Given the description of an element on the screen output the (x, y) to click on. 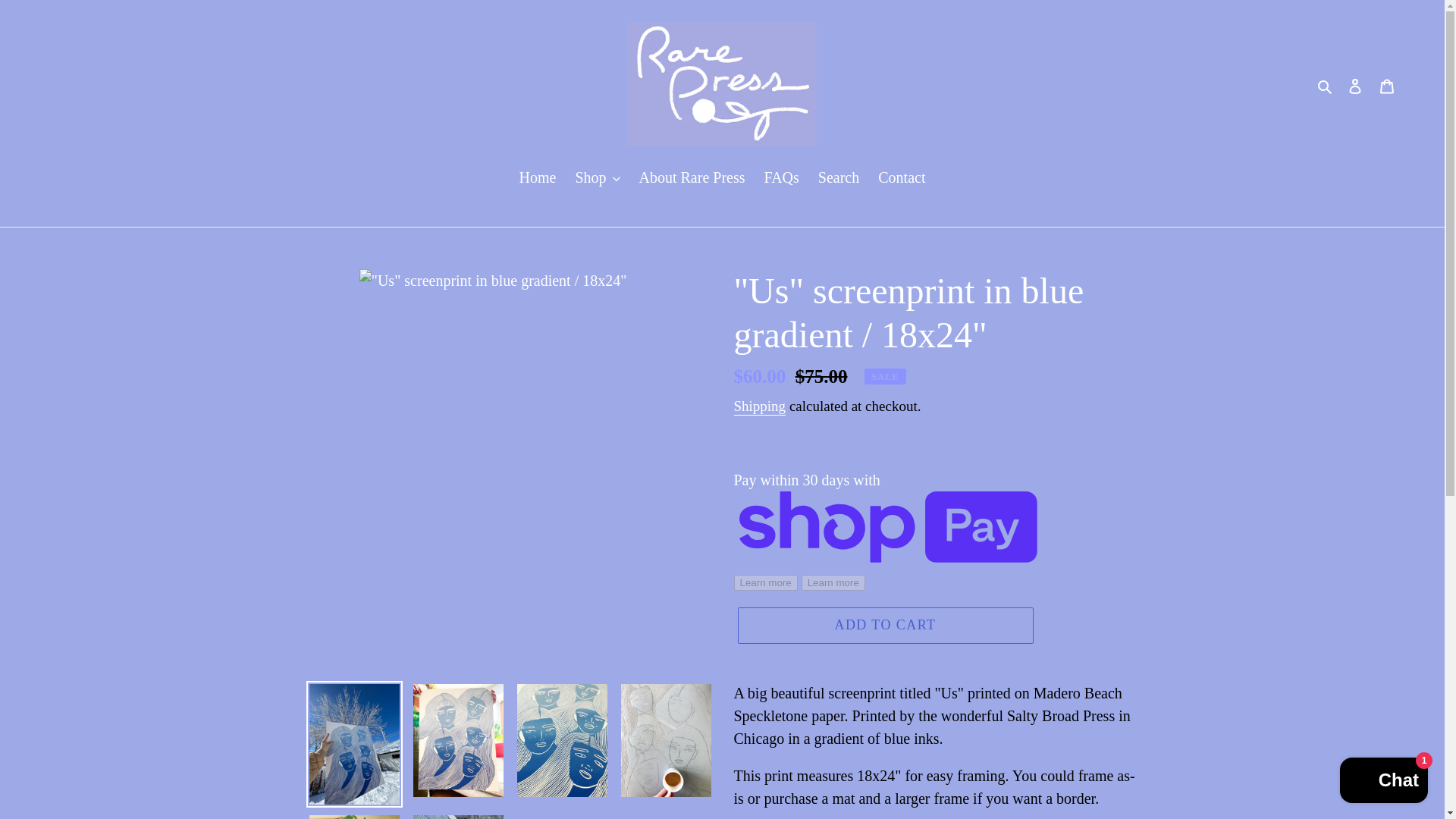
Shop (597, 178)
Home (538, 178)
Shopify online store chat (1383, 781)
Search (1326, 84)
